Given the description of an element on the screen output the (x, y) to click on. 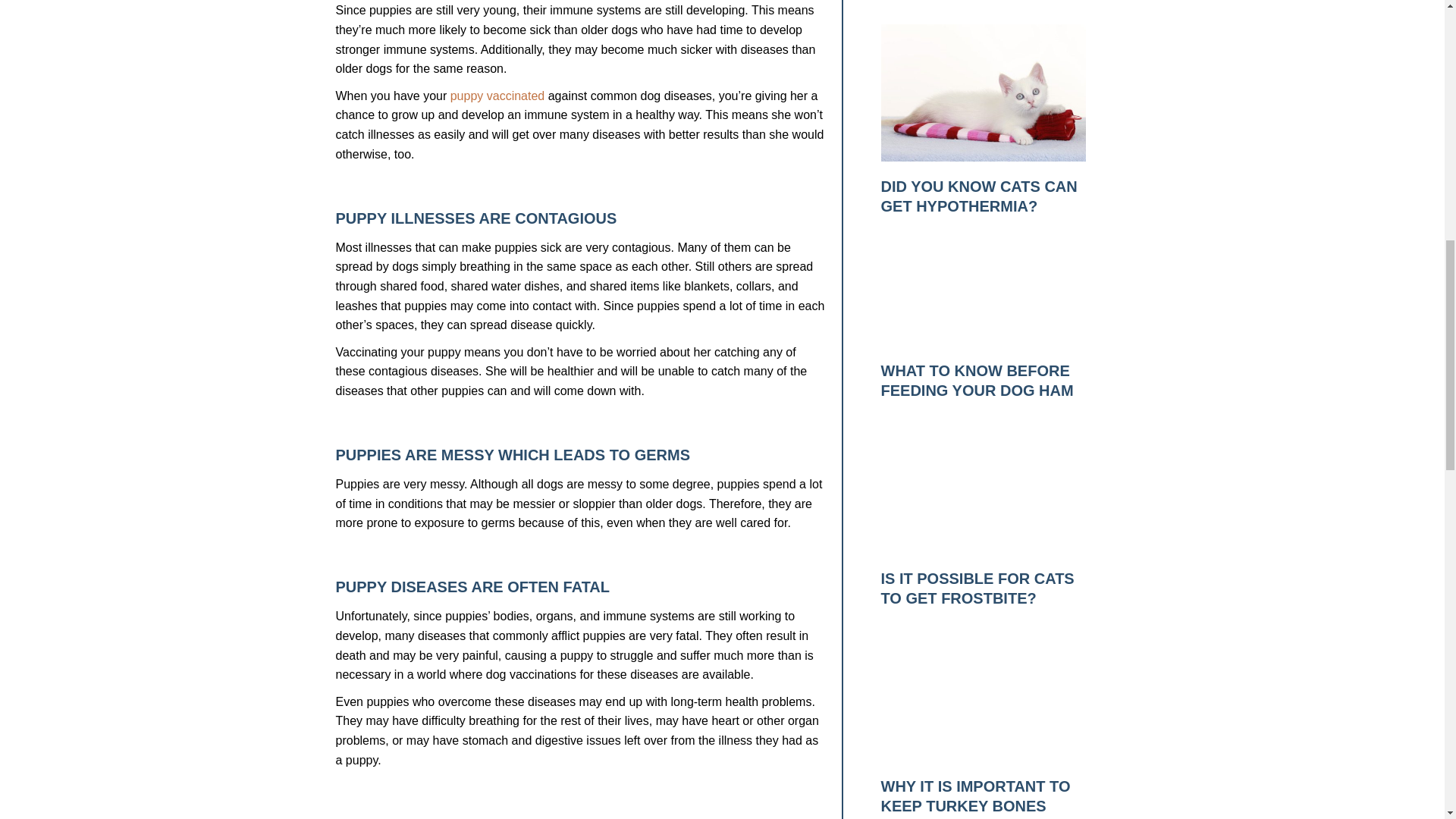
What to Know Before Feeding Your Dog Ham (977, 380)
Did You Know Cats Can Get Hypothermia? (978, 196)
Why It Is Important to Keep Turkey Bones Away from Your Dog (975, 798)
Is it Possible for Cats to Get Frostbite? (977, 588)
7 Signs Your Dog is Constipated and How to Help Them (972, 1)
